Given the description of an element on the screen output the (x, y) to click on. 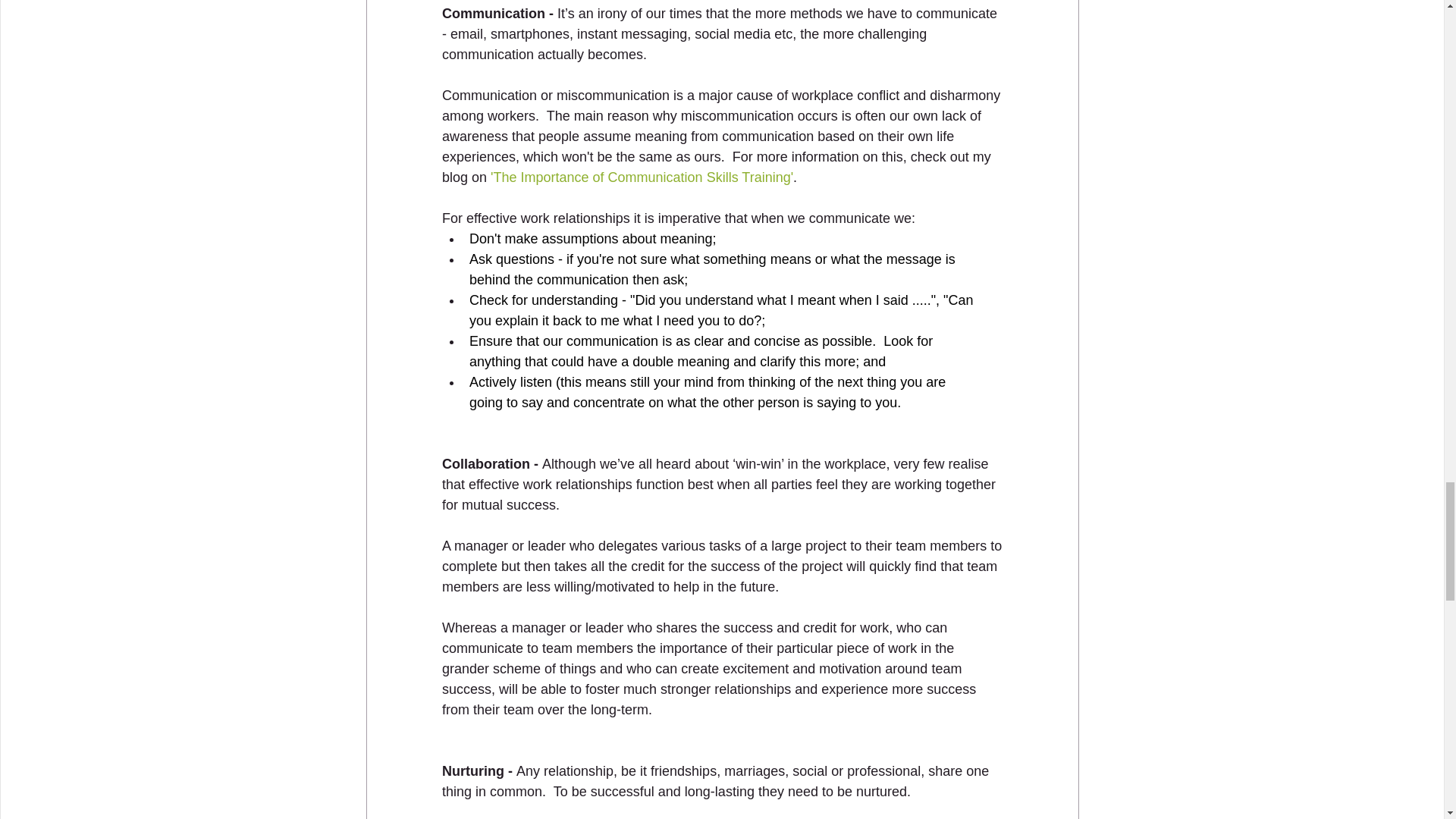
'The Importance of Communication Skills Training' (641, 177)
